Given the description of an element on the screen output the (x, y) to click on. 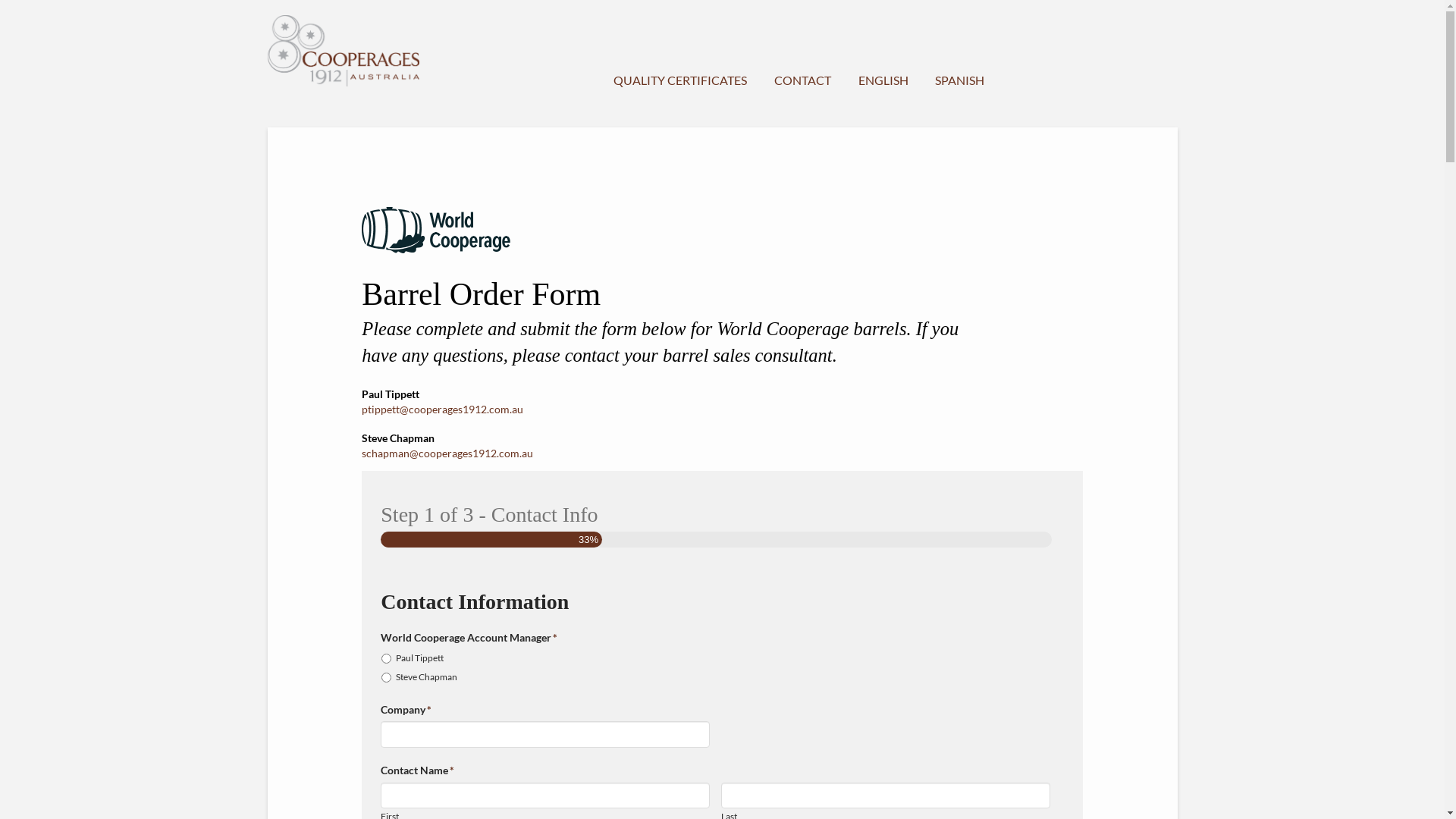
CONTACT Element type: text (801, 54)
schapman@cooperages1912.com.au Element type: text (447, 452)
ptippett@cooperages1912.com.au Element type: text (442, 408)
SPANISH Element type: text (958, 54)
QUALITY CERTIFICATES Element type: text (679, 54)
ENGLISH Element type: text (881, 54)
